Given the description of an element on the screen output the (x, y) to click on. 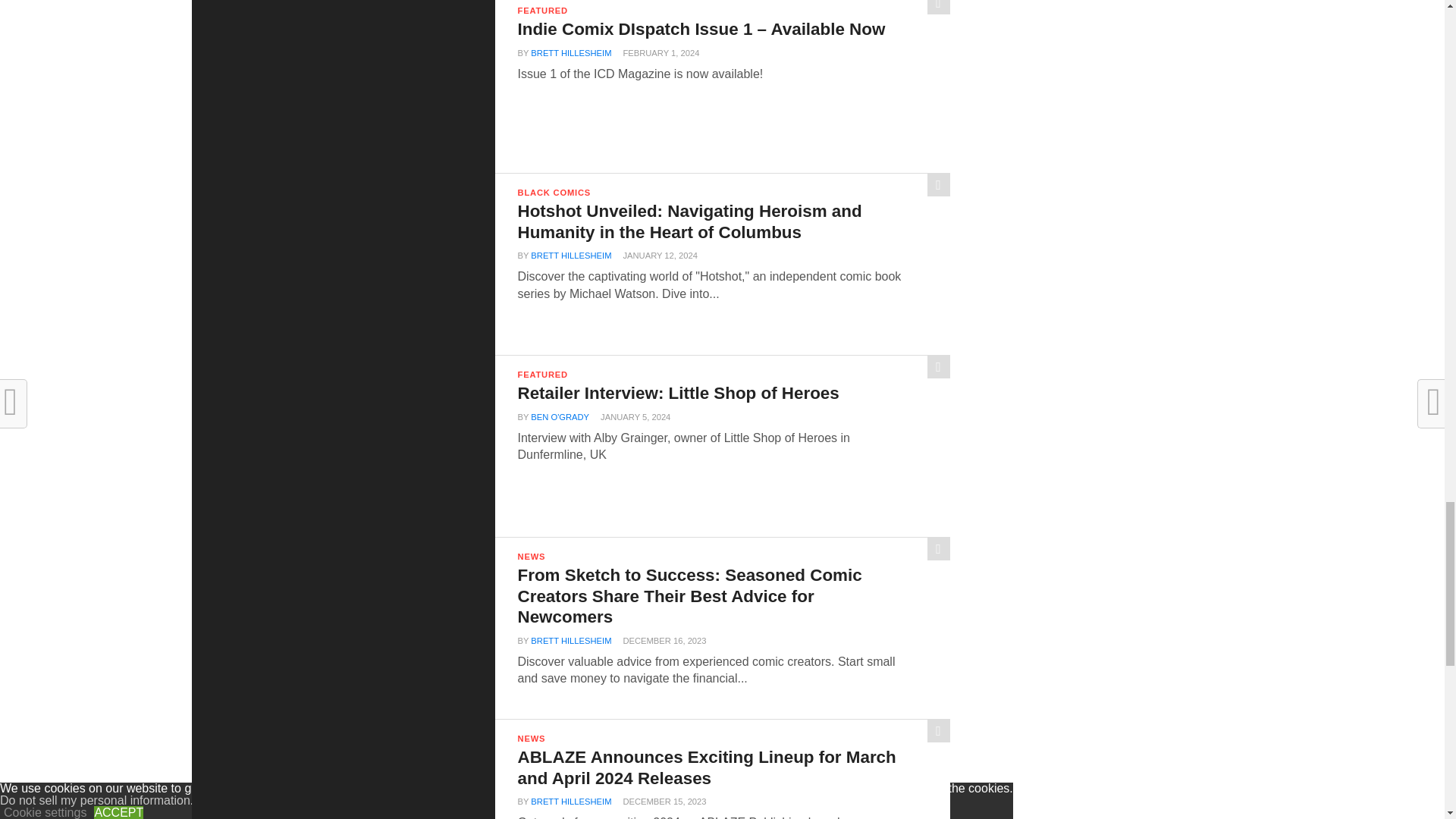
Posts by Brett Hillesheim (571, 52)
BRETT HILLESHEIM (571, 52)
Posts by Brett Hillesheim (571, 255)
